Given the description of an element on the screen output the (x, y) to click on. 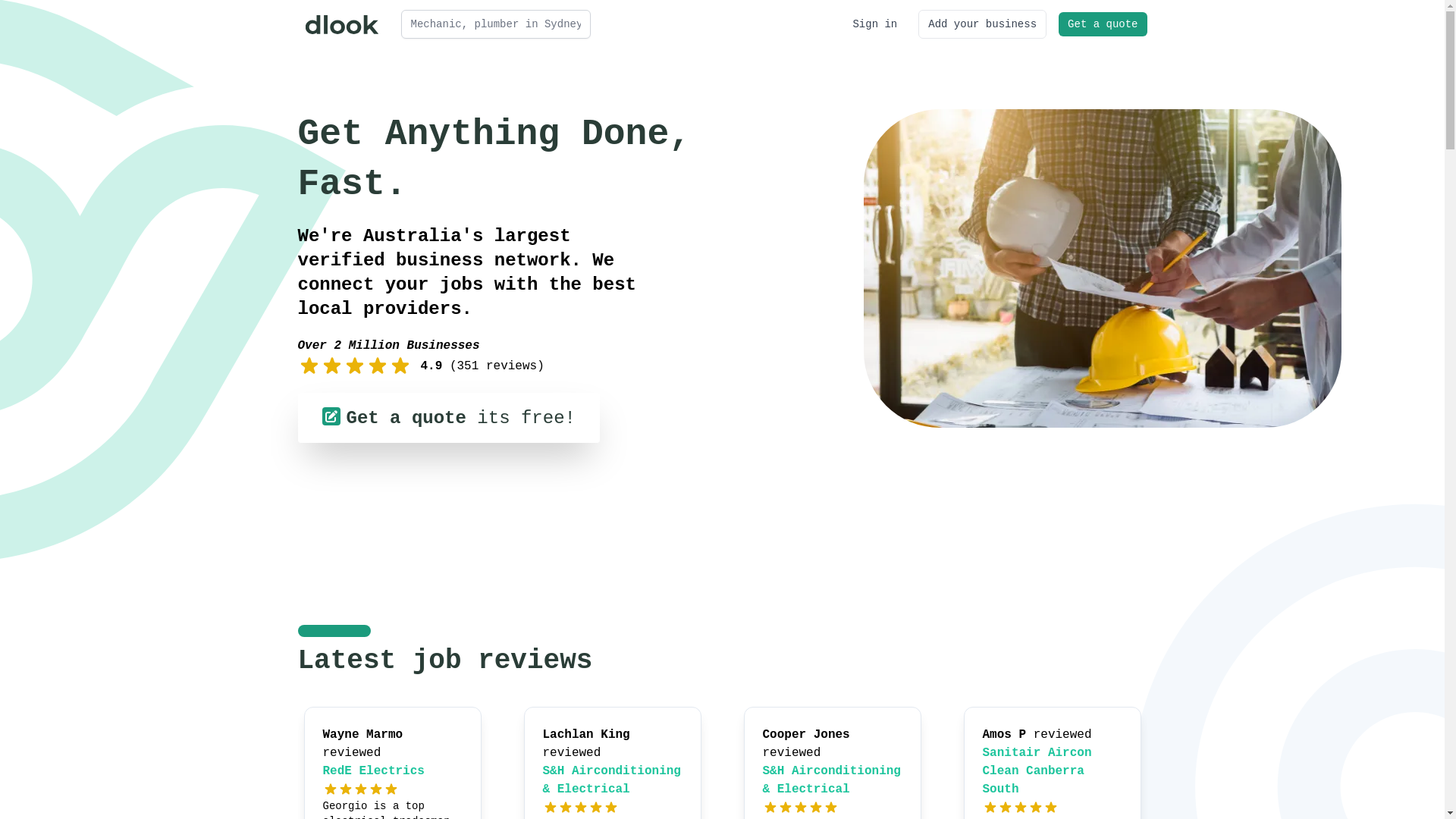
RedE Electrics Element type: text (373, 771)
Get a quote its free! Element type: text (448, 417)
Add your business Element type: text (982, 23)
Sign in Element type: text (874, 23)
S&H Airconditioning & Electrical Element type: text (611, 780)
Get a quote Element type: text (1102, 24)
S&H Airconditioning & Electrical Element type: text (831, 780)
Sanitair Aircon Clean Canberra South Element type: text (1037, 771)
